Given the description of an element on the screen output the (x, y) to click on. 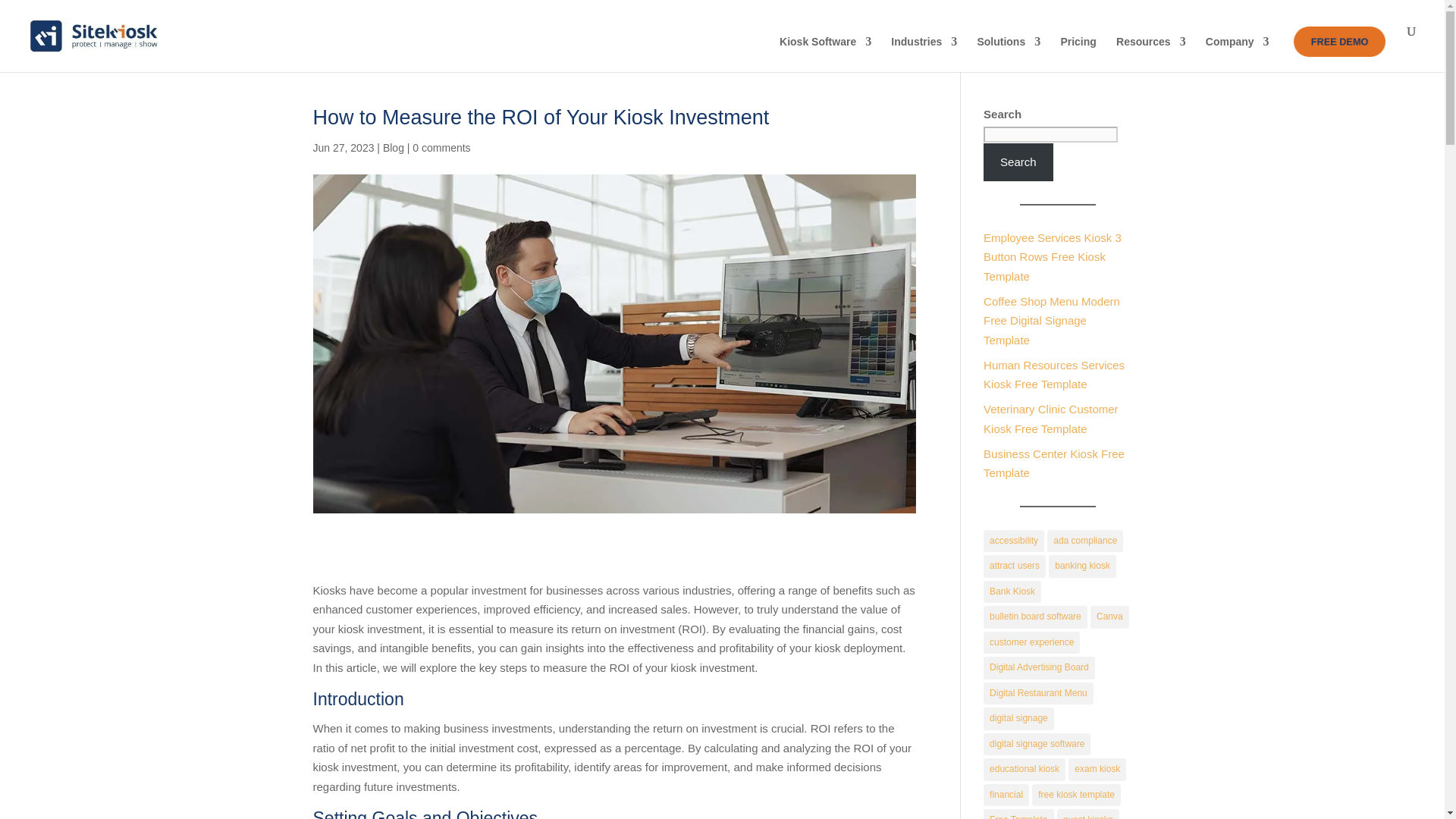
Industries (923, 54)
Resources (1151, 54)
Company (1237, 54)
Kiosk Software (824, 54)
Solutions (1008, 54)
Pricing (1077, 54)
